Given the description of an element on the screen output the (x, y) to click on. 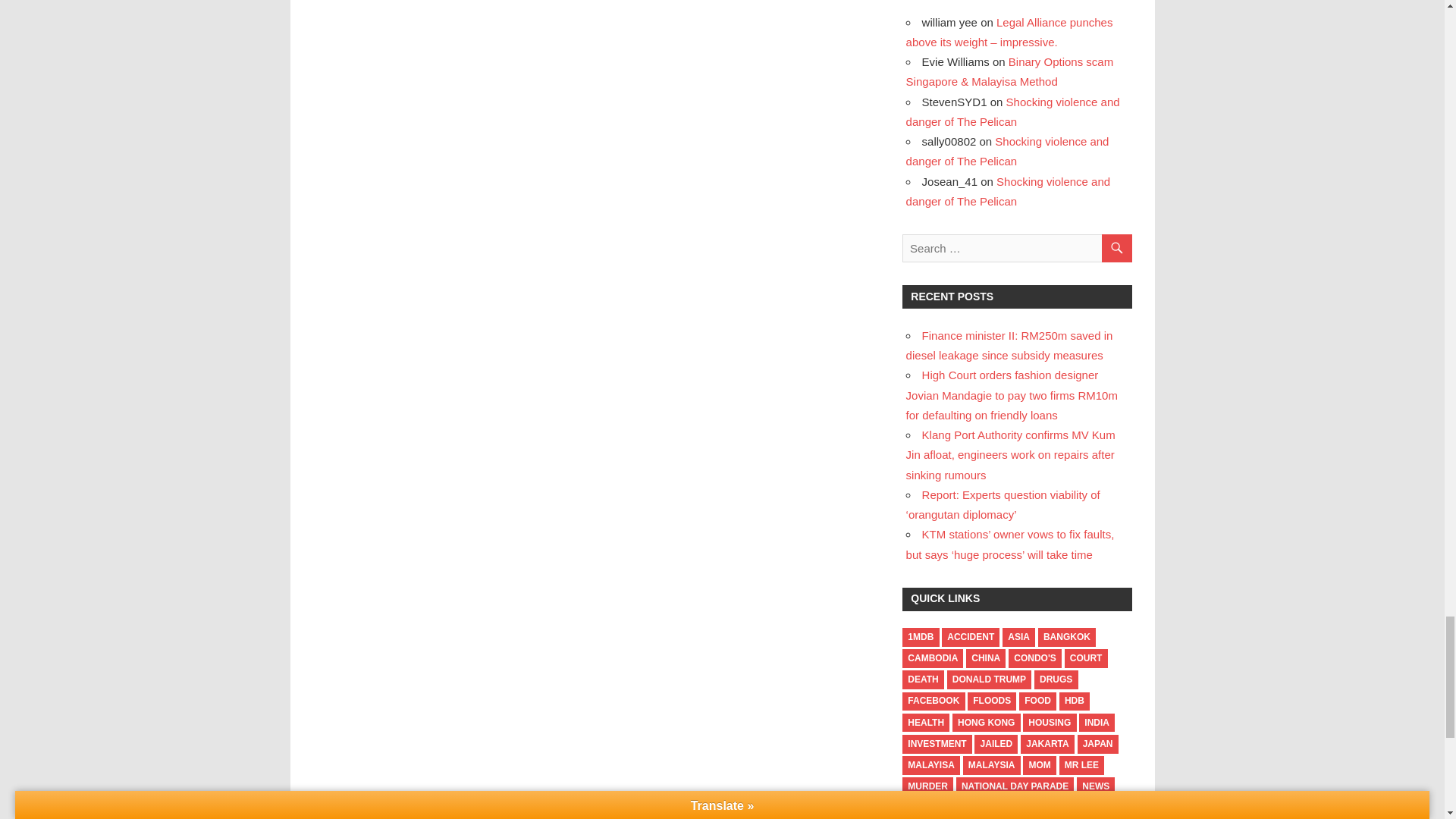
Search for: (1016, 248)
